Given the description of an element on the screen output the (x, y) to click on. 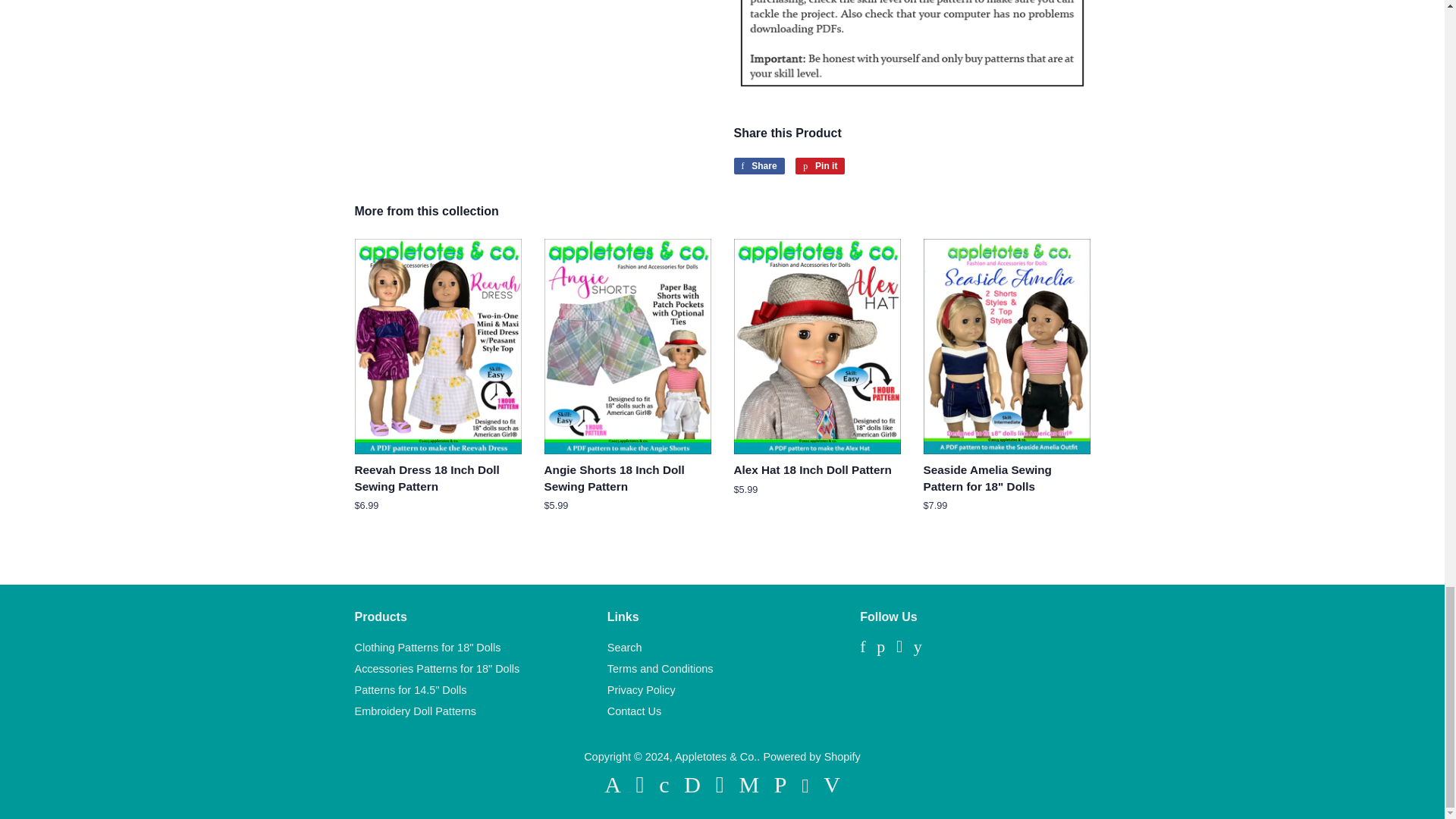
Pin on Pinterest (819, 166)
Share on Facebook (758, 166)
